Given the description of an element on the screen output the (x, y) to click on. 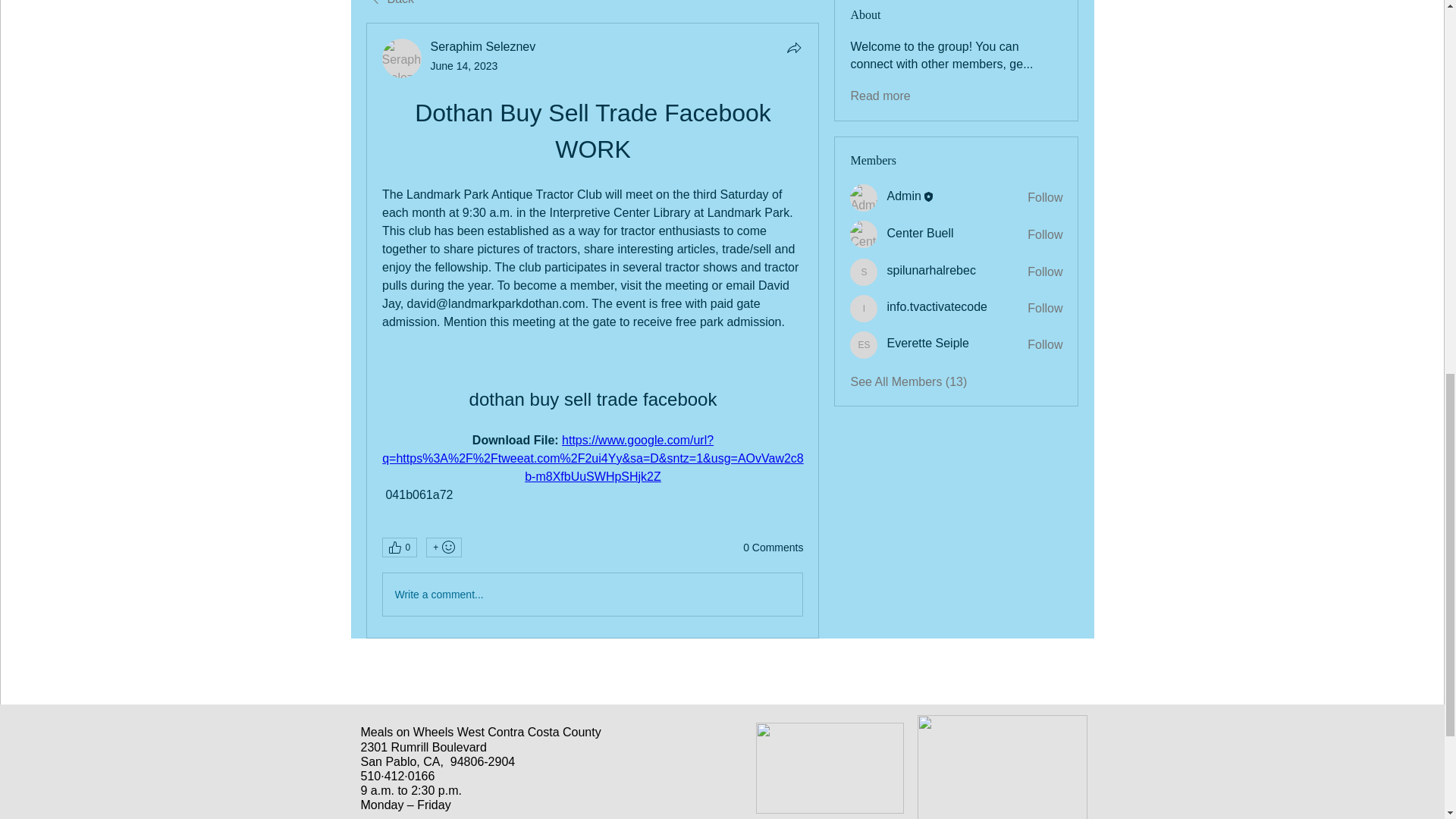
Admin (863, 197)
Everette Seiple (927, 342)
Admin (903, 195)
Everette Seiple (863, 344)
Read more (880, 95)
spilunarhalrebec (863, 271)
June 14, 2023 (463, 65)
Follow (1044, 234)
Center Buell (863, 234)
spilunarhalrebec (930, 269)
Seraphim Seleznev (401, 57)
Follow (1044, 271)
info.tvactivatecode (863, 308)
